Given the description of an element on the screen output the (x, y) to click on. 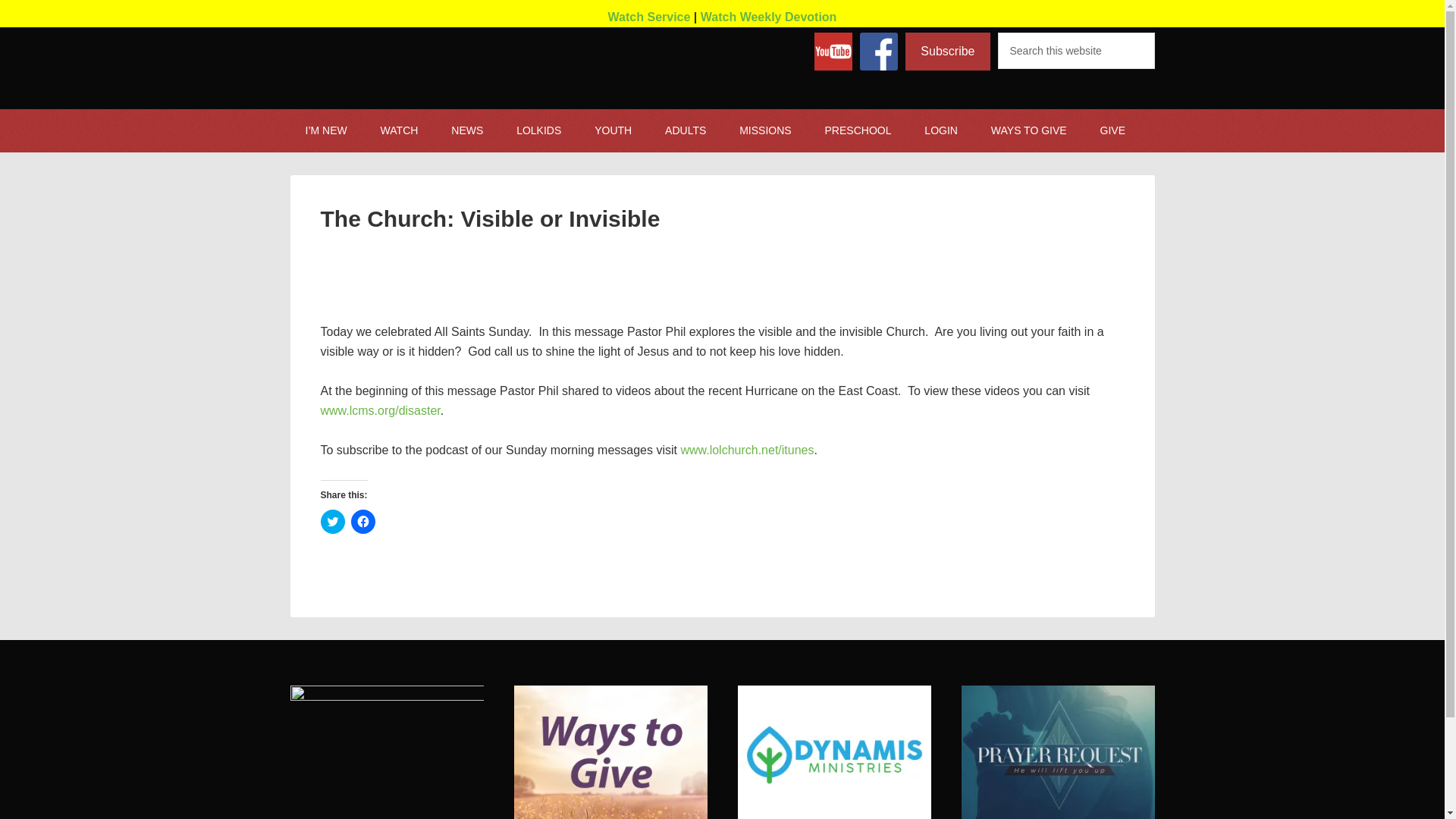
Watch Weekly Devotion (768, 16)
Search (1165, 42)
Search (1165, 42)
PRESCHOOL (858, 130)
LOLKIDS (538, 130)
YOUTH (612, 130)
Click to share on Twitter (331, 521)
Search (1165, 42)
Click to share on Facebook (362, 521)
GIVE (1112, 130)
WAYS TO GIVE (1028, 130)
Watch Service (649, 16)
LOGIN (940, 130)
MISSIONS (764, 130)
Subscribe (947, 51)
